Given the description of an element on the screen output the (x, y) to click on. 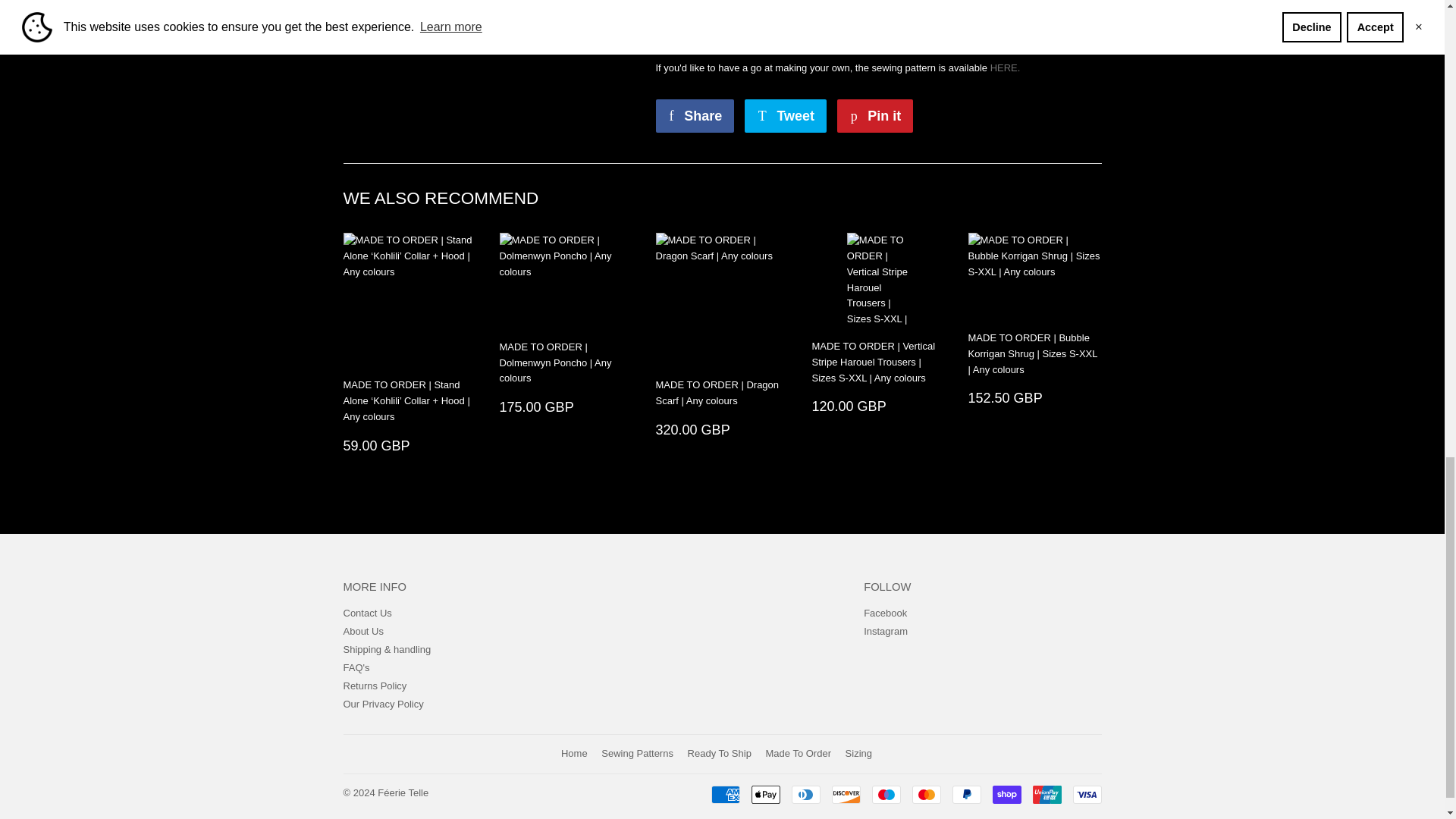
Maestro (886, 794)
Apple Pay (764, 794)
PayPal (966, 794)
Pin on Pinterest (875, 115)
Discover (845, 794)
American Express (725, 794)
Visa (1085, 794)
Mastercard (925, 794)
Union Pay (1046, 794)
Share on Facebook (694, 115)
Telmandolle Skirt sewing pattern (1005, 67)
Tweet on Twitter (785, 115)
Shop Pay (1005, 794)
Diners Club (806, 794)
